Given the description of an element on the screen output the (x, y) to click on. 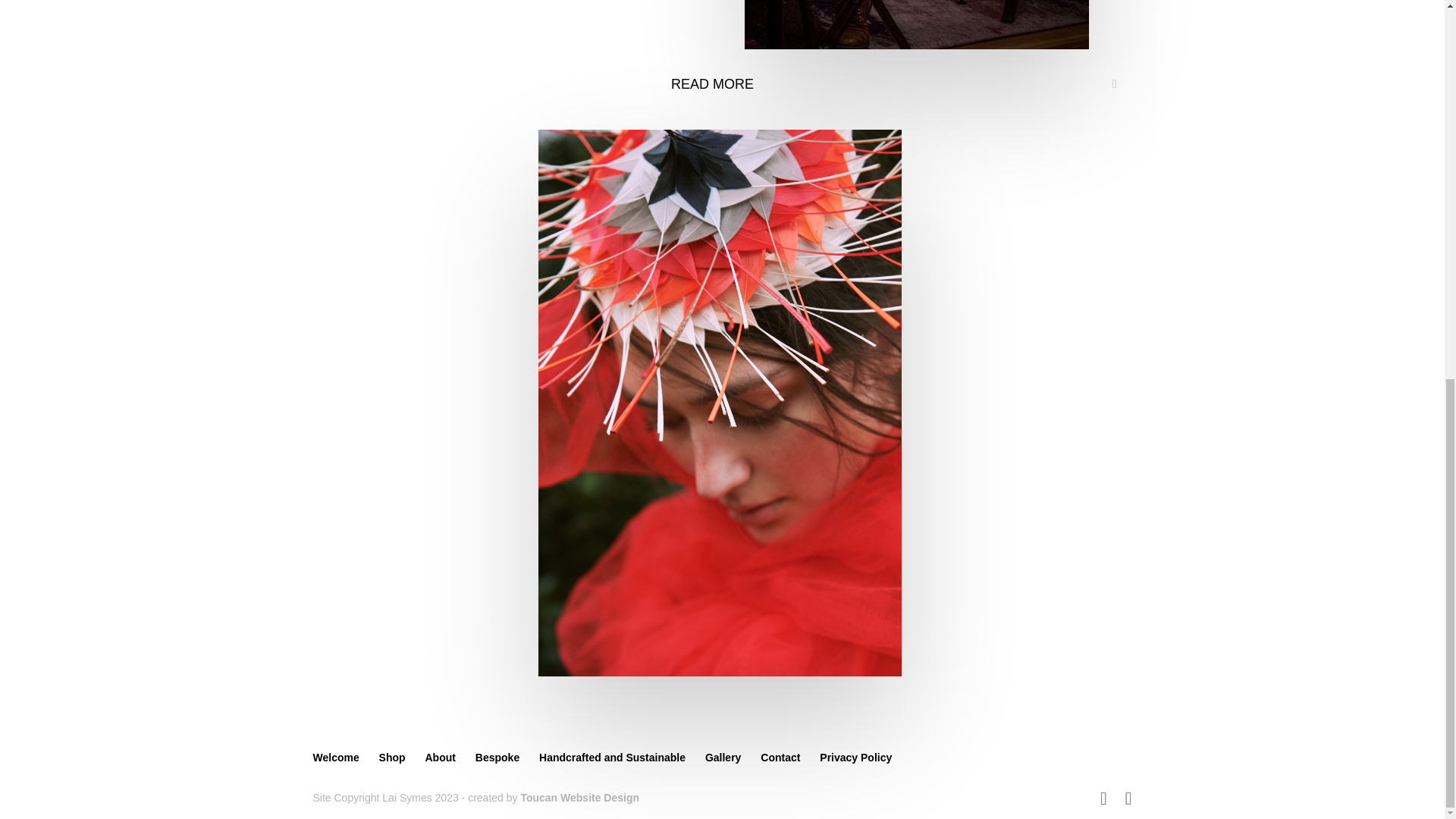
qest resized small (505, 2)
Bespoke (497, 757)
Handcrafted and Sustainable (611, 757)
About (439, 757)
Welcome (335, 757)
Gallery (722, 757)
Shop (392, 757)
Contact (779, 757)
Toucan Website Design (579, 797)
Privacy Policy (855, 757)
About me image (916, 24)
